Given the description of an element on the screen output the (x, y) to click on. 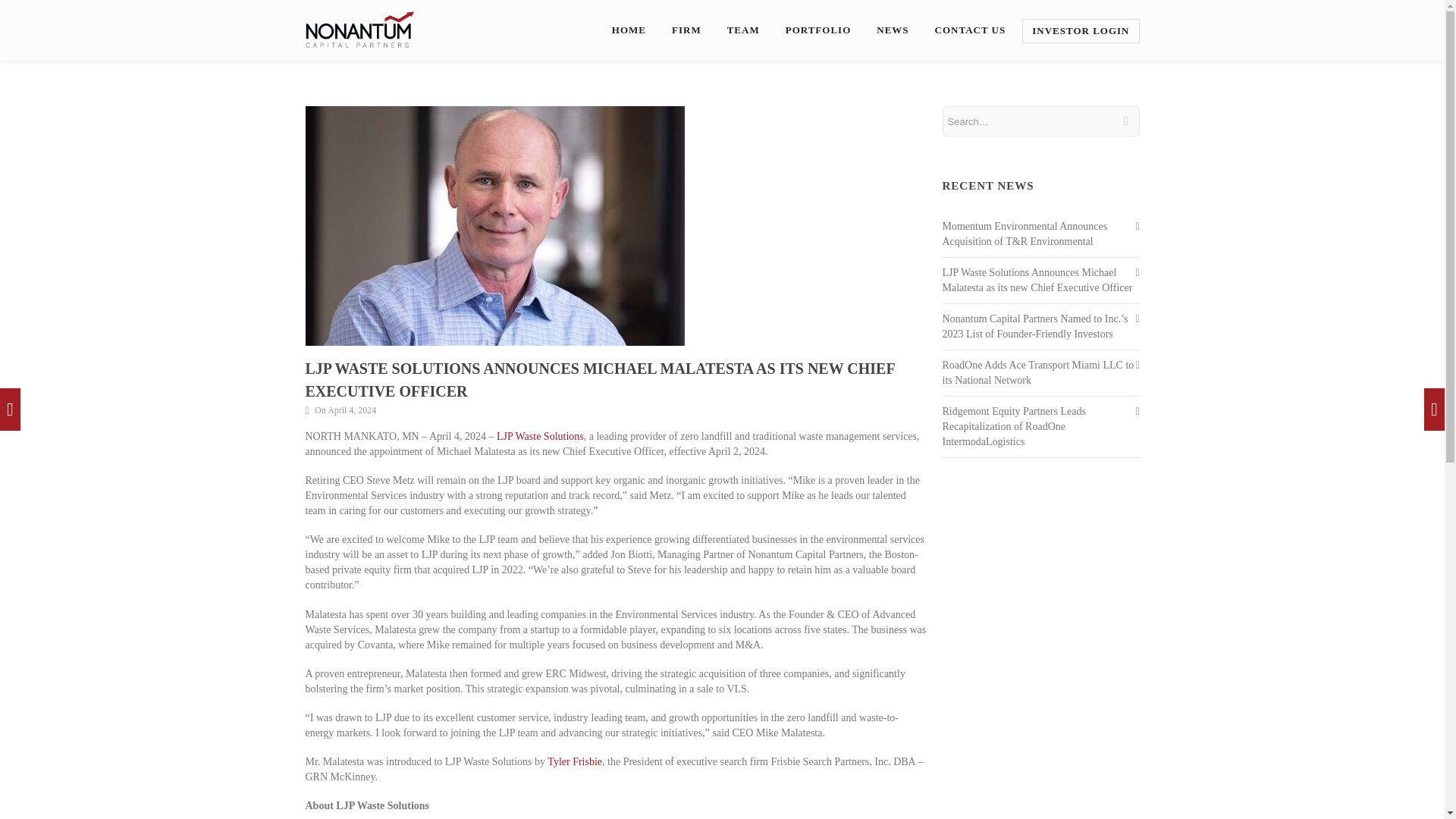
NEWS (892, 29)
HOME (628, 29)
RoadOne Adds Ace Transport Miami LLC to its National Network (1038, 372)
INVESTOR LOGIN (1080, 30)
PORTFOLIO (818, 29)
FIRM (686, 29)
CONTACT US (970, 29)
TEAM (742, 29)
Tyler Frisbie (574, 761)
LJP Waste Solutions (539, 436)
